Given the description of an element on the screen output the (x, y) to click on. 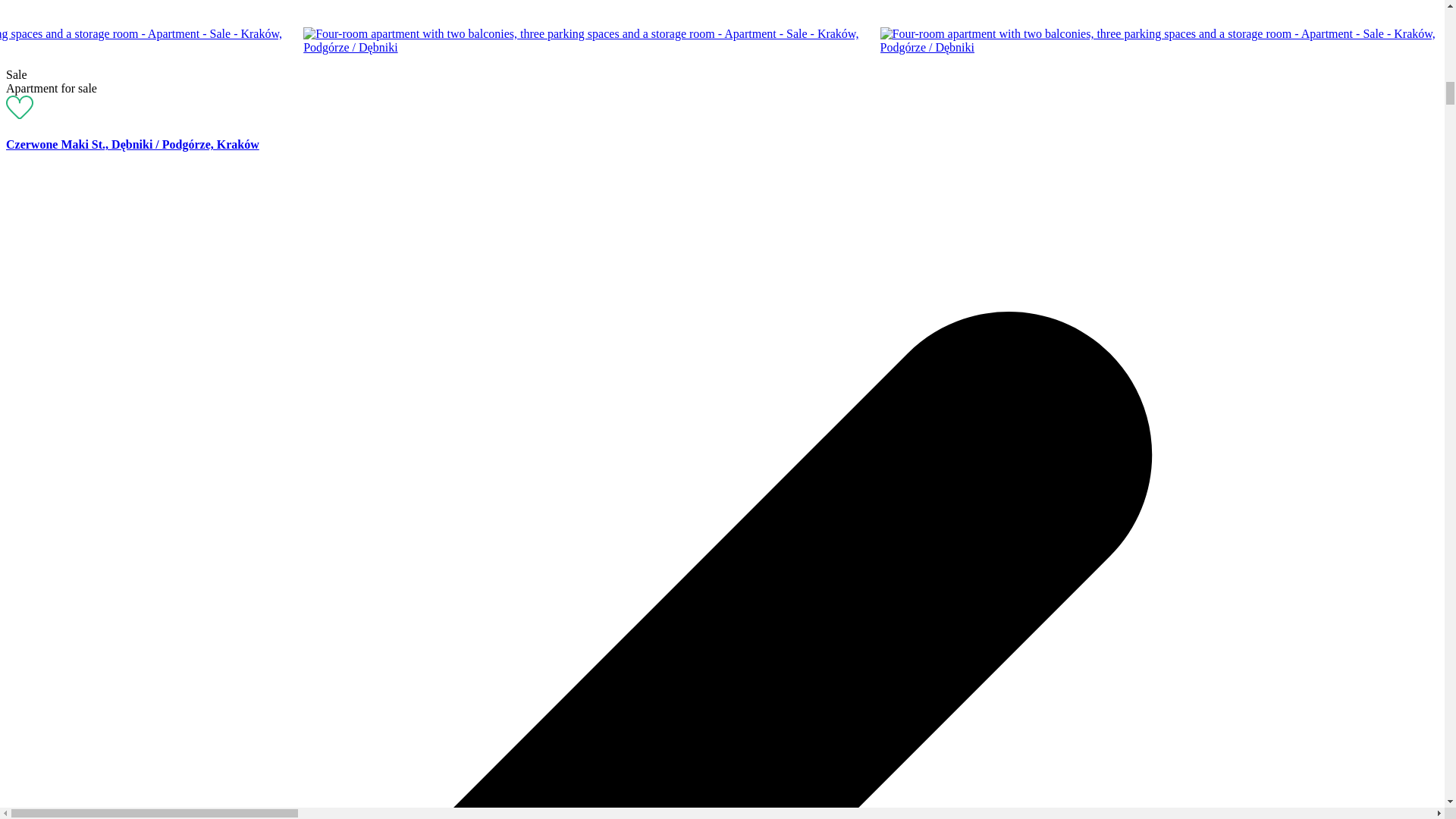
Add offer to favorites (19, 114)
